Given the description of an element on the screen output the (x, y) to click on. 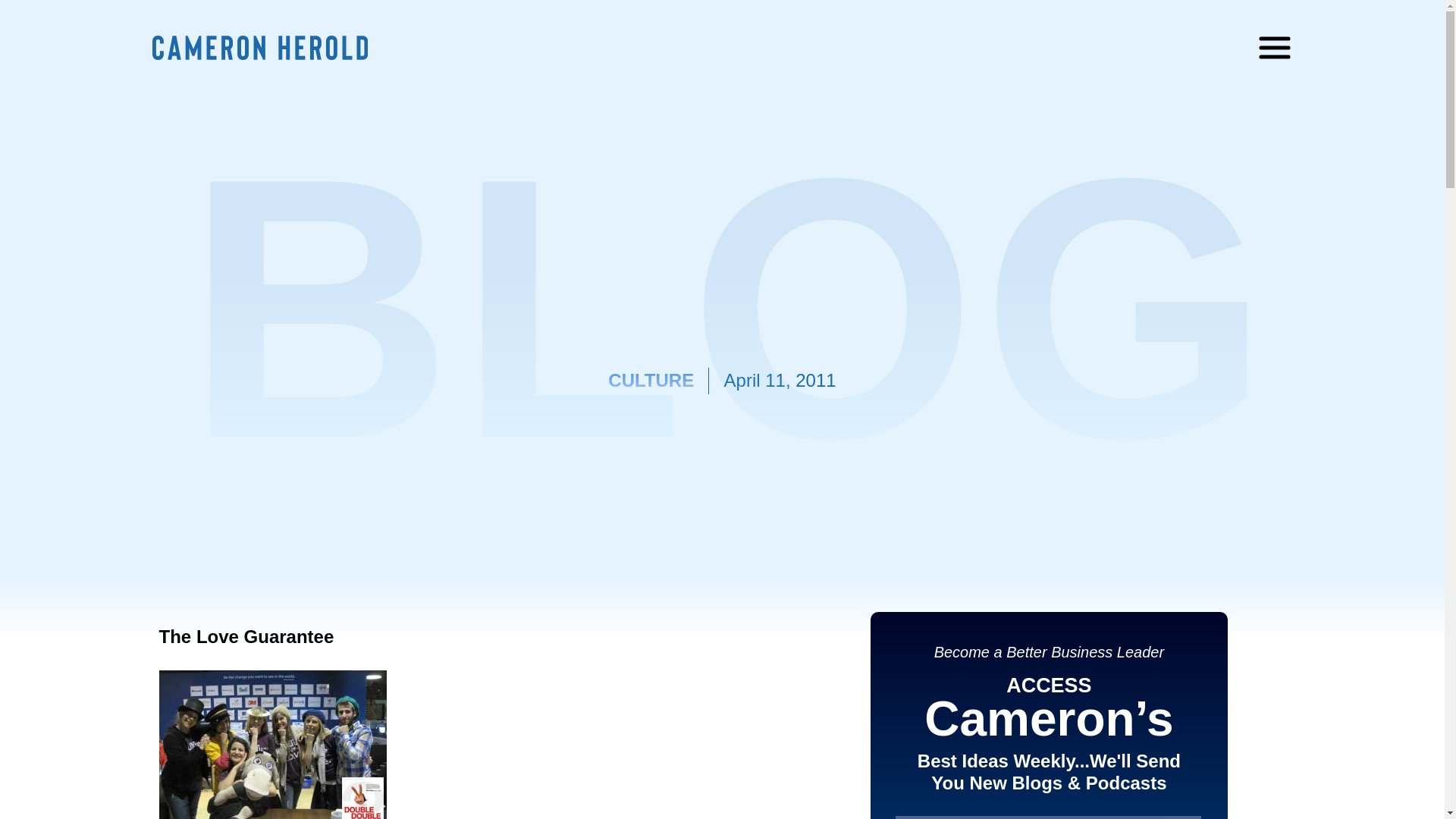
April 11, 2011 (779, 380)
CULTURE (651, 380)
